Given the description of an element on the screen output the (x, y) to click on. 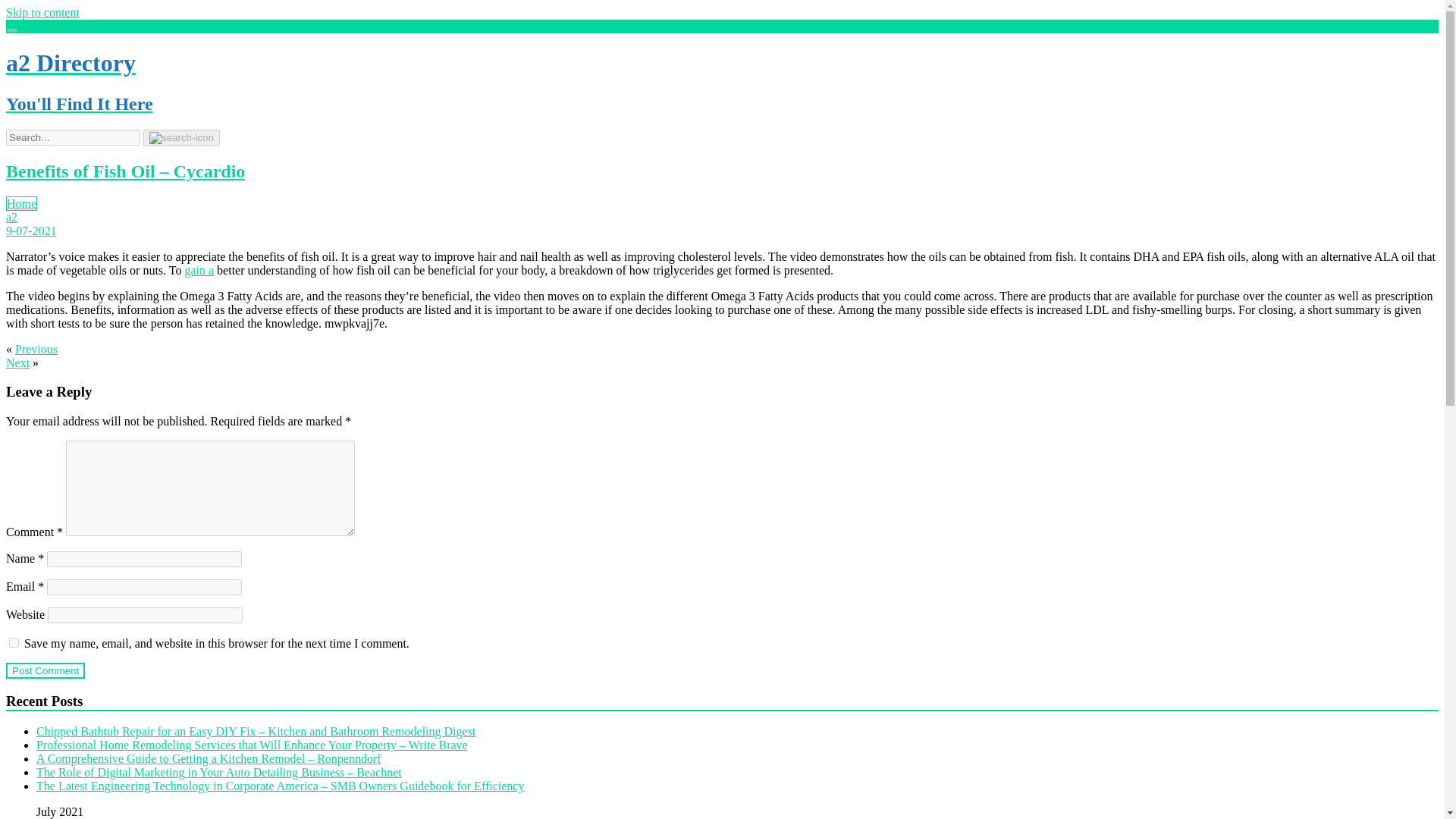
Skip to content (42, 11)
Next (17, 362)
9-07-2021 (30, 230)
Home (21, 203)
gain a (199, 269)
Post Comment (44, 670)
yes (13, 642)
Previous (36, 349)
Post Comment (44, 670)
